Given the description of an element on the screen output the (x, y) to click on. 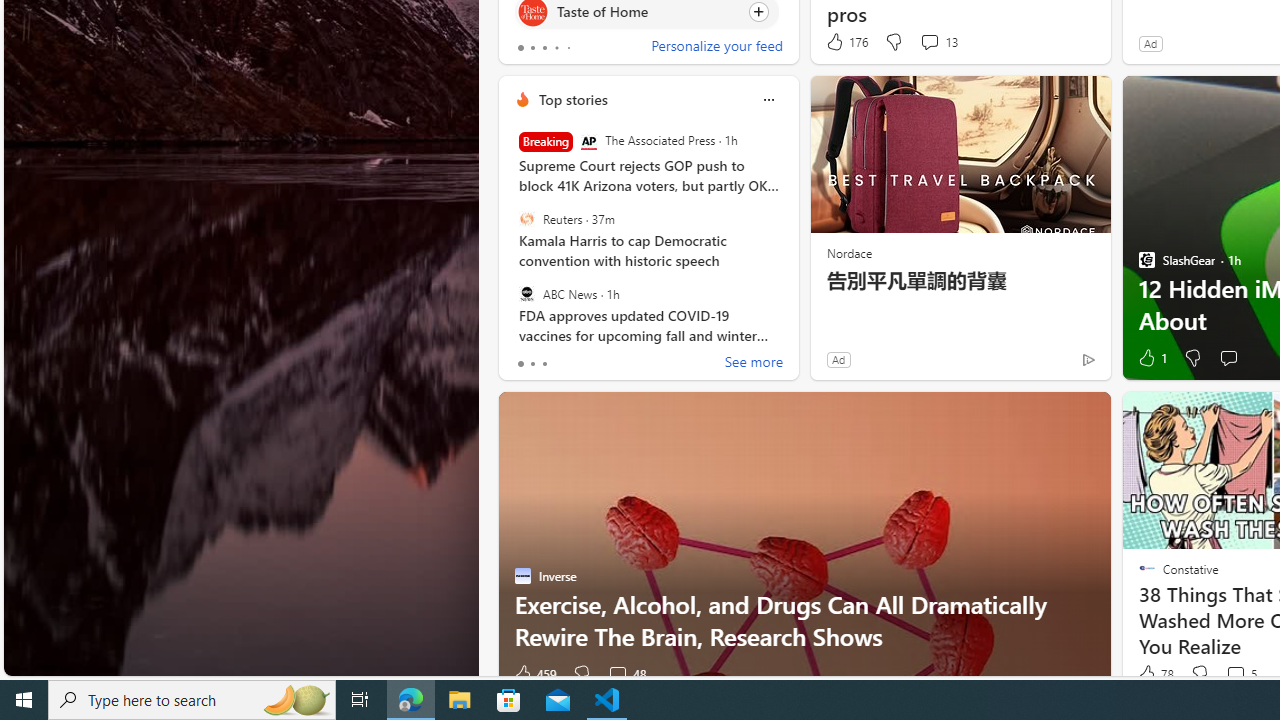
176 Like (845, 42)
View comments 5 Comment (1240, 674)
tab-2 (543, 363)
tab-1 (532, 363)
tab-0 (520, 363)
View comments 13 Comment (929, 41)
View comments 48 Comment (617, 673)
Reuters (526, 219)
Top stories (572, 99)
